Given the description of an element on the screen output the (x, y) to click on. 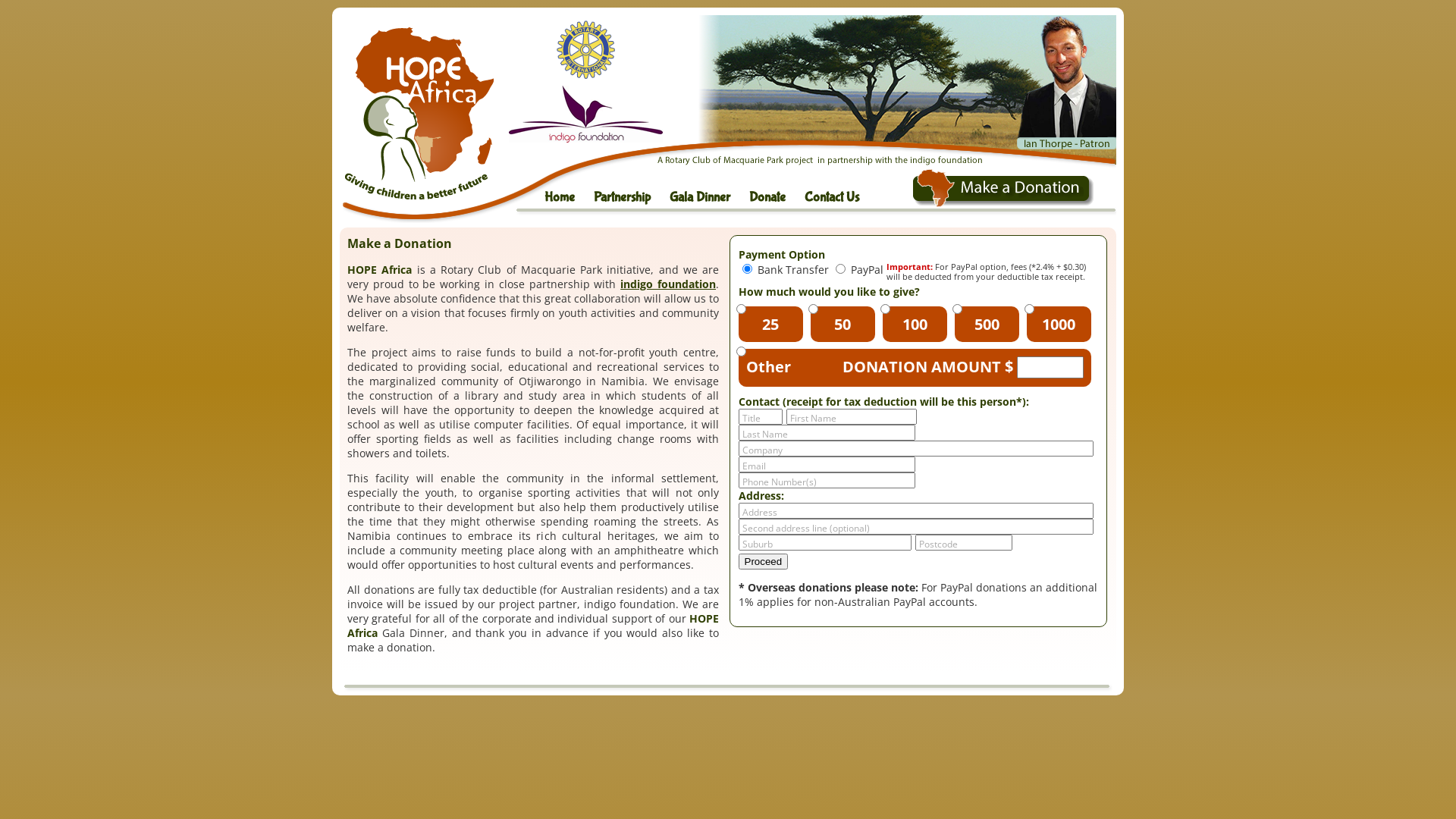
Partnership Element type: text (631, 193)
indigo foundation Element type: text (667, 283)
Home Element type: text (568, 193)
Gala Dinner Element type: text (709, 193)
Donate Element type: text (776, 193)
Contact Us Element type: text (841, 193)
